Given the description of an element on the screen output the (x, y) to click on. 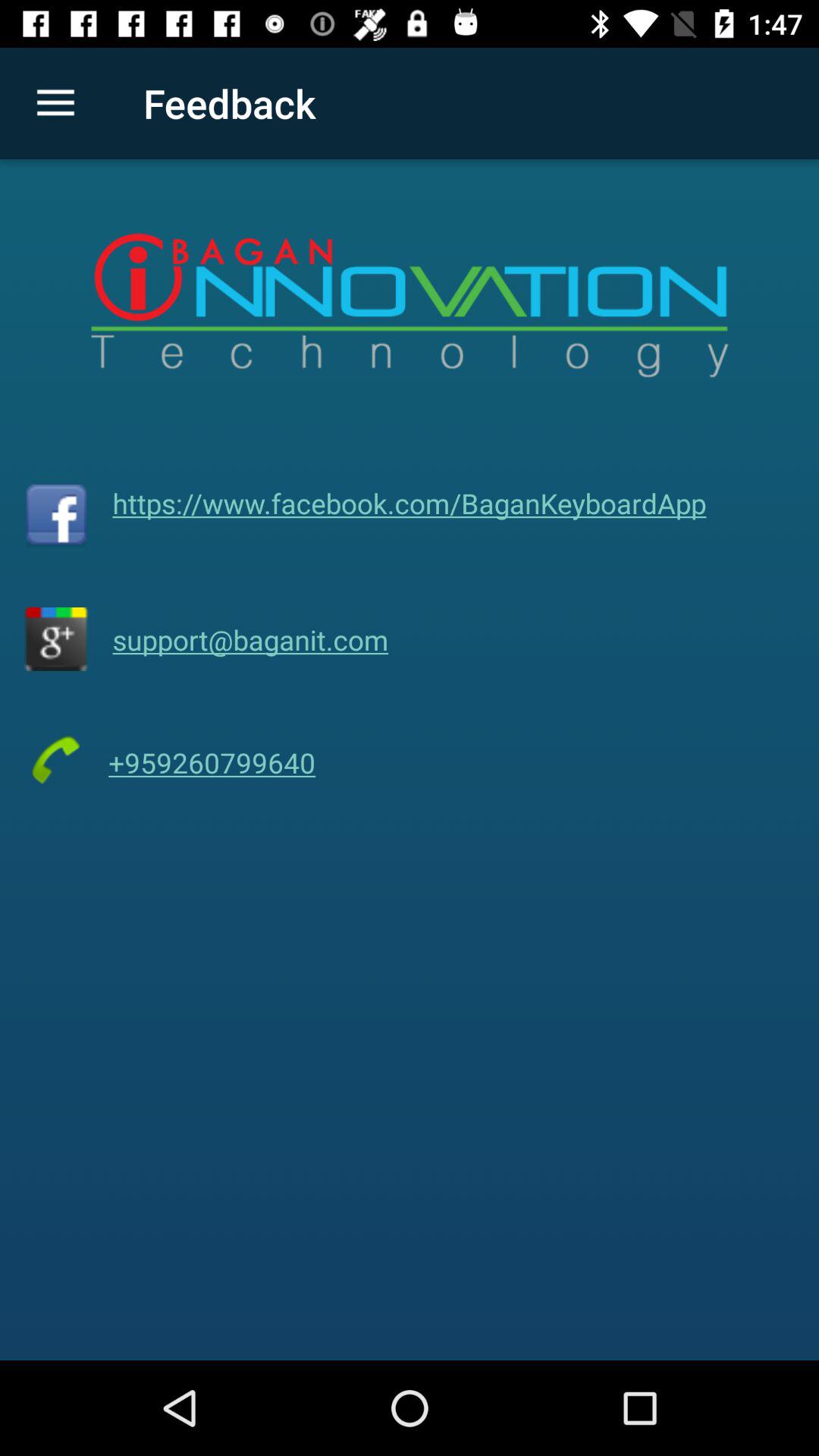
tap icon at the center (409, 503)
